Given the description of an element on the screen output the (x, y) to click on. 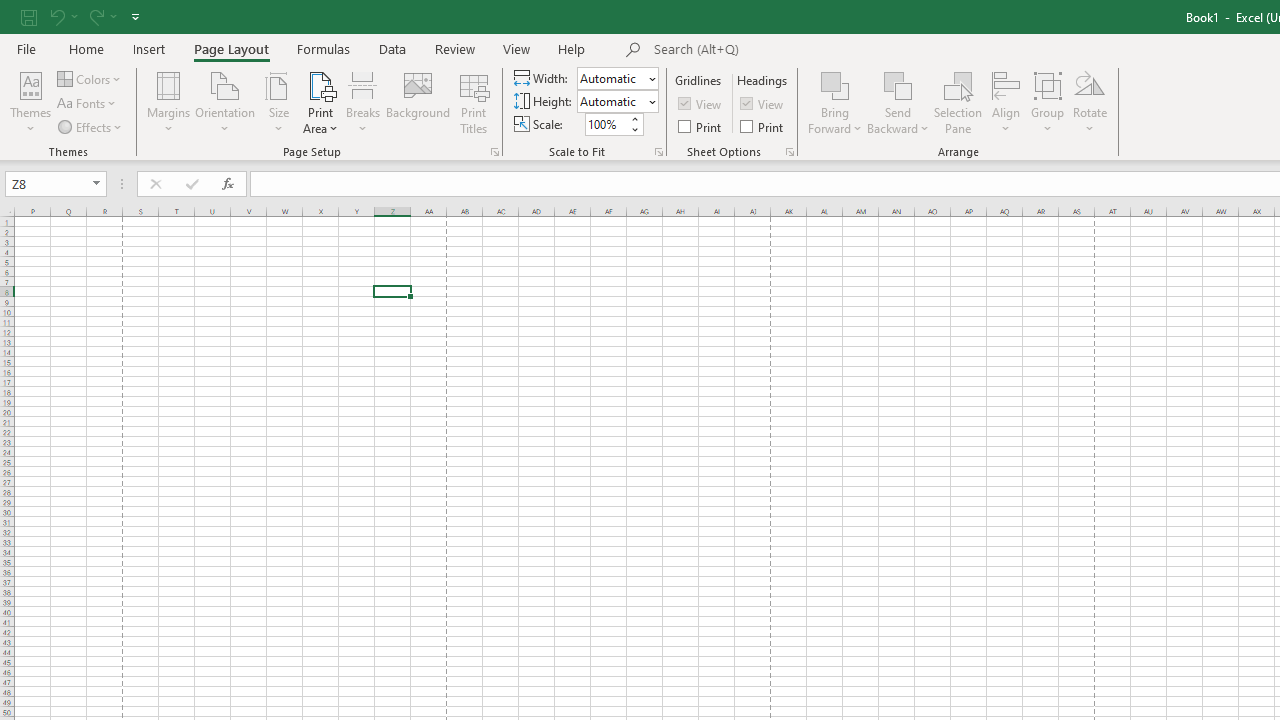
Sheet Options (789, 151)
Formulas (323, 48)
Print (763, 126)
Orientation (225, 102)
Width (618, 78)
Open (96, 183)
Bring Forward (835, 84)
Review (454, 48)
Save (29, 15)
Group (1047, 102)
Rotate (1089, 102)
Background... (418, 102)
Effects (91, 126)
